Given the description of an element on the screen output the (x, y) to click on. 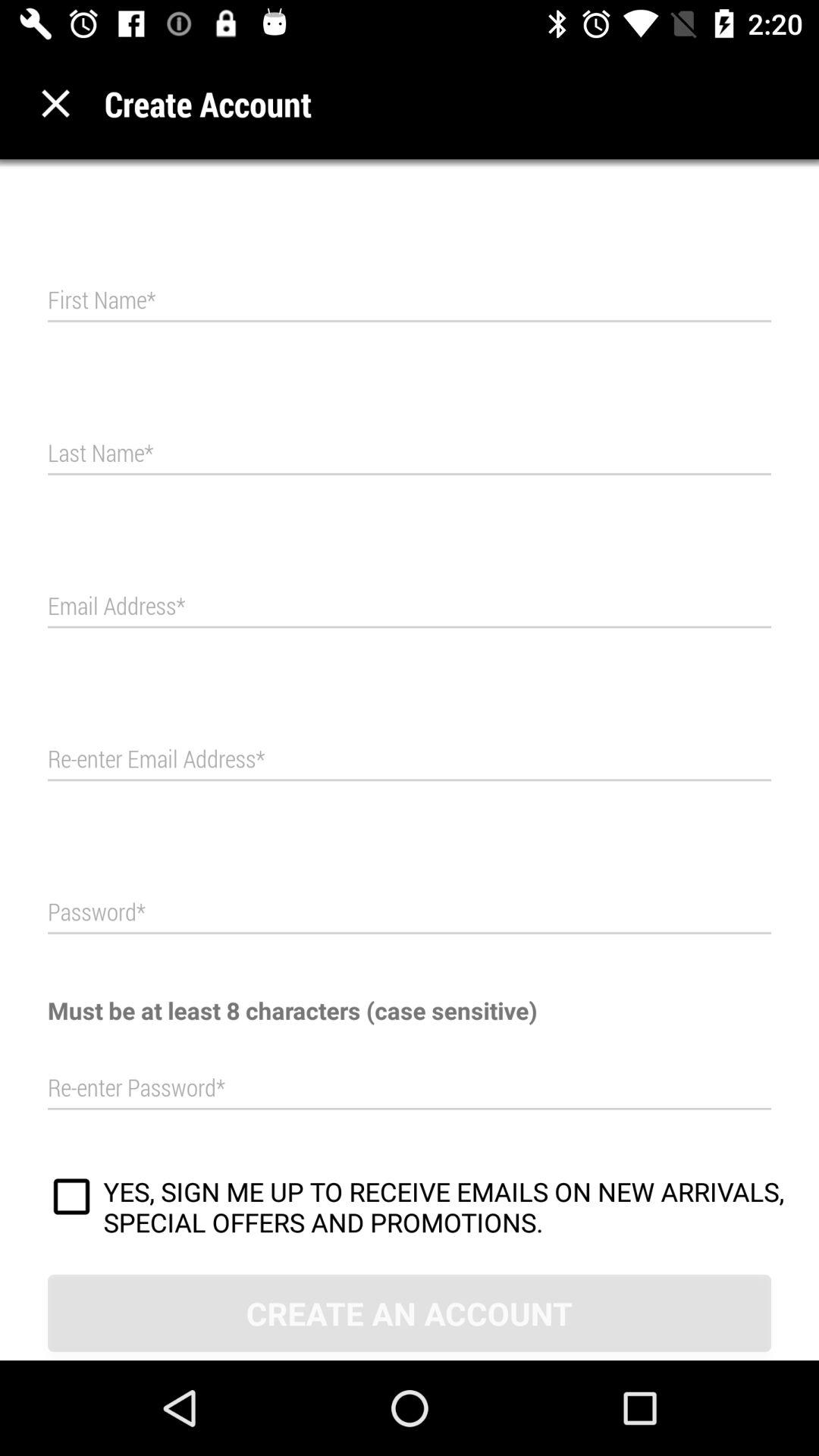
tap item above the must be at (409, 912)
